Given the description of an element on the screen output the (x, y) to click on. 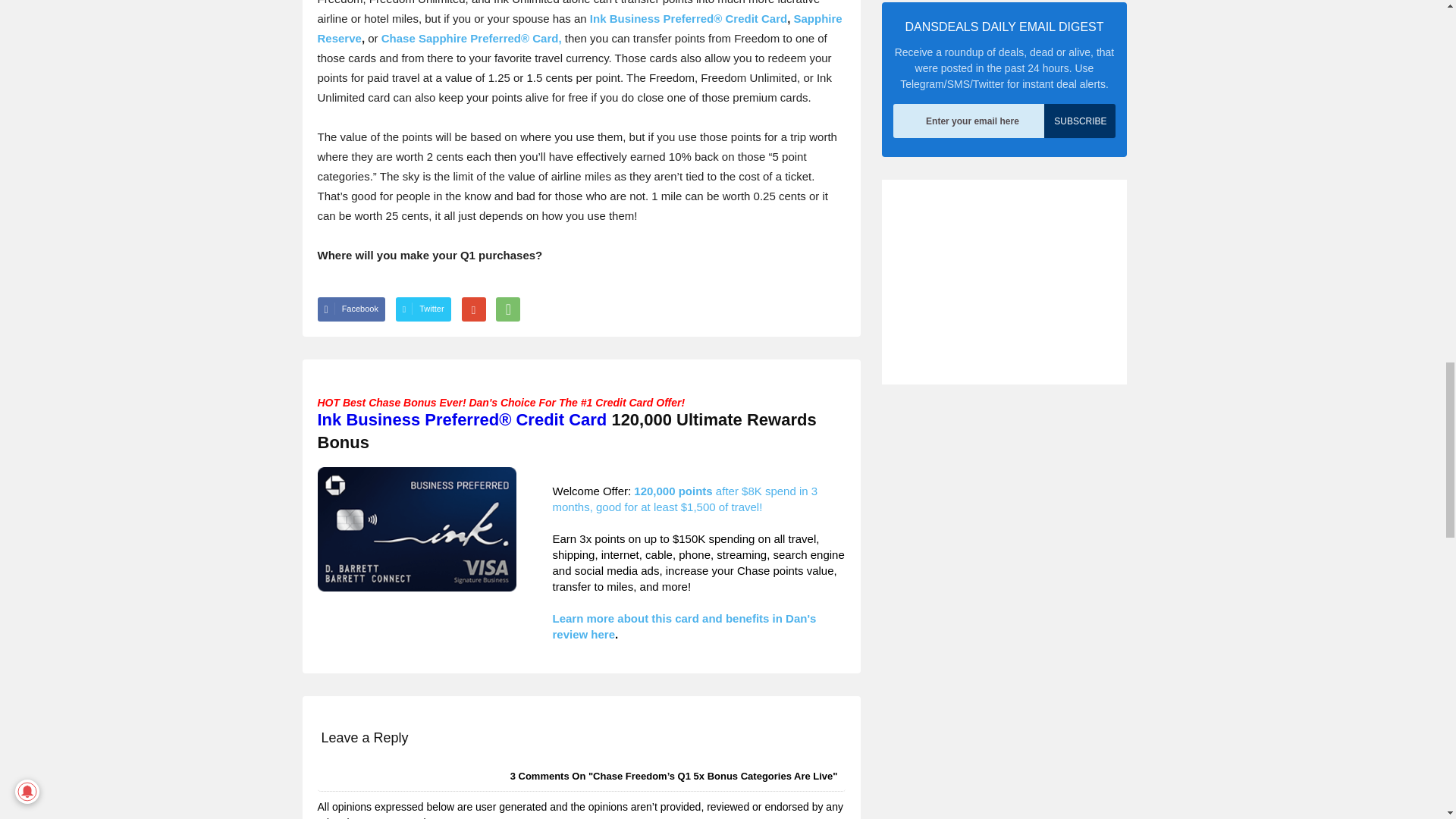
Subscribe (1079, 121)
